Given the description of an element on the screen output the (x, y) to click on. 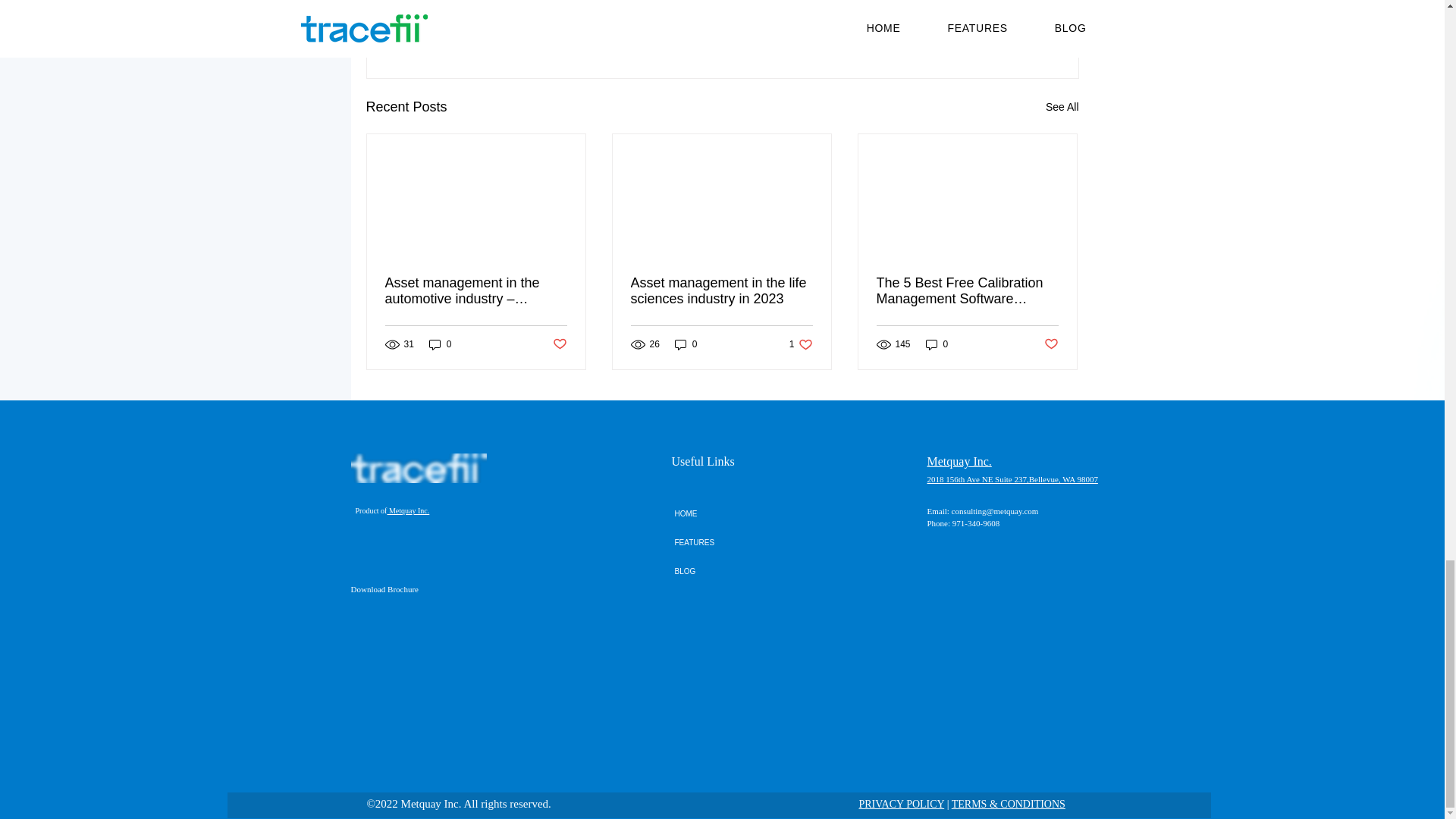
0 (440, 344)
0 (685, 344)
Post not marked as liked (995, 24)
Asset management in the life sciences industry in 2023 (721, 291)
0 (937, 344)
Post not marked as liked (558, 343)
Post not marked as liked (1050, 343)
See All (800, 344)
Metquay Inc. (1061, 106)
